Given the description of an element on the screen output the (x, y) to click on. 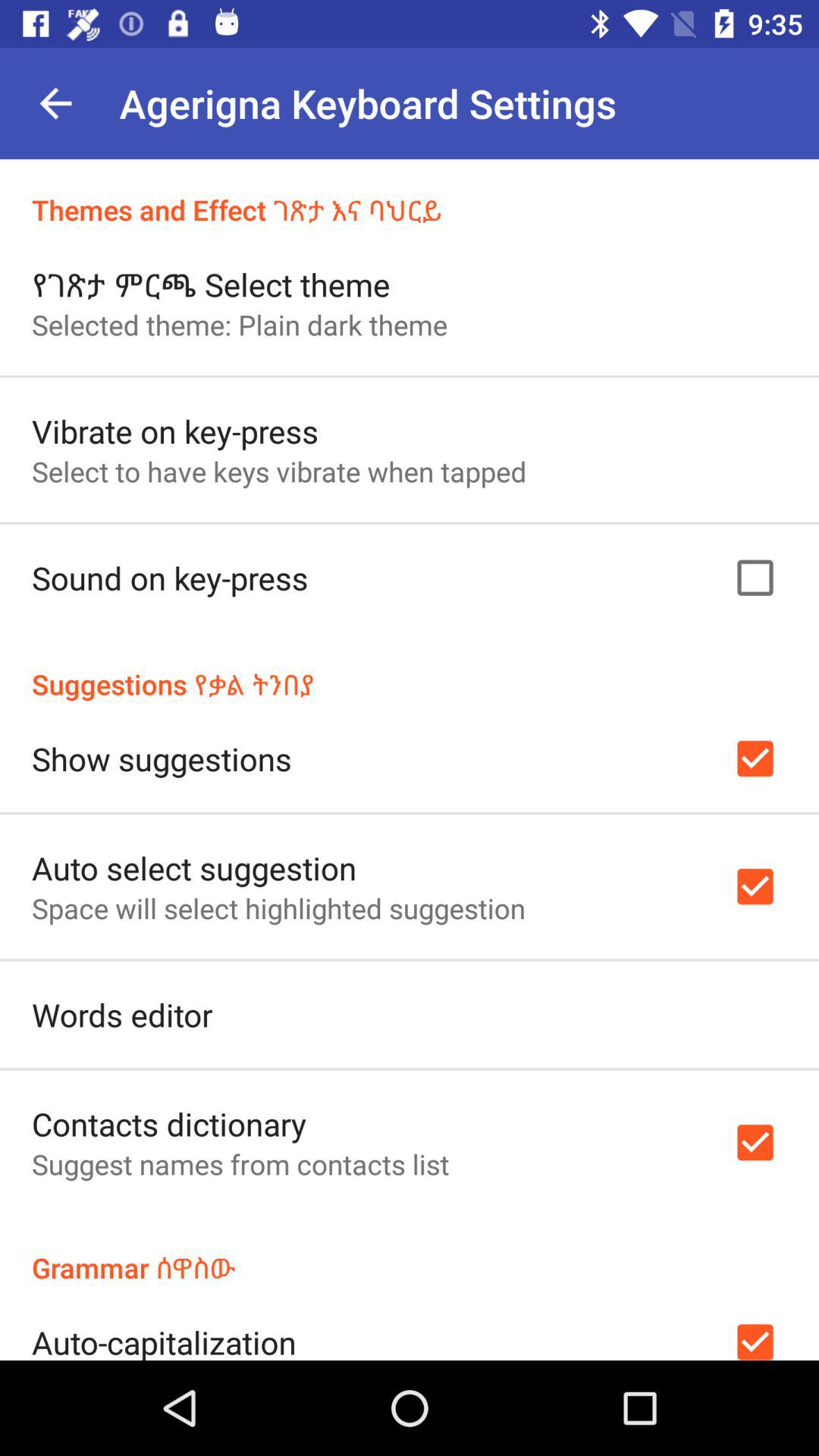
press the icon above themes and effect item (55, 103)
